Given the description of an element on the screen output the (x, y) to click on. 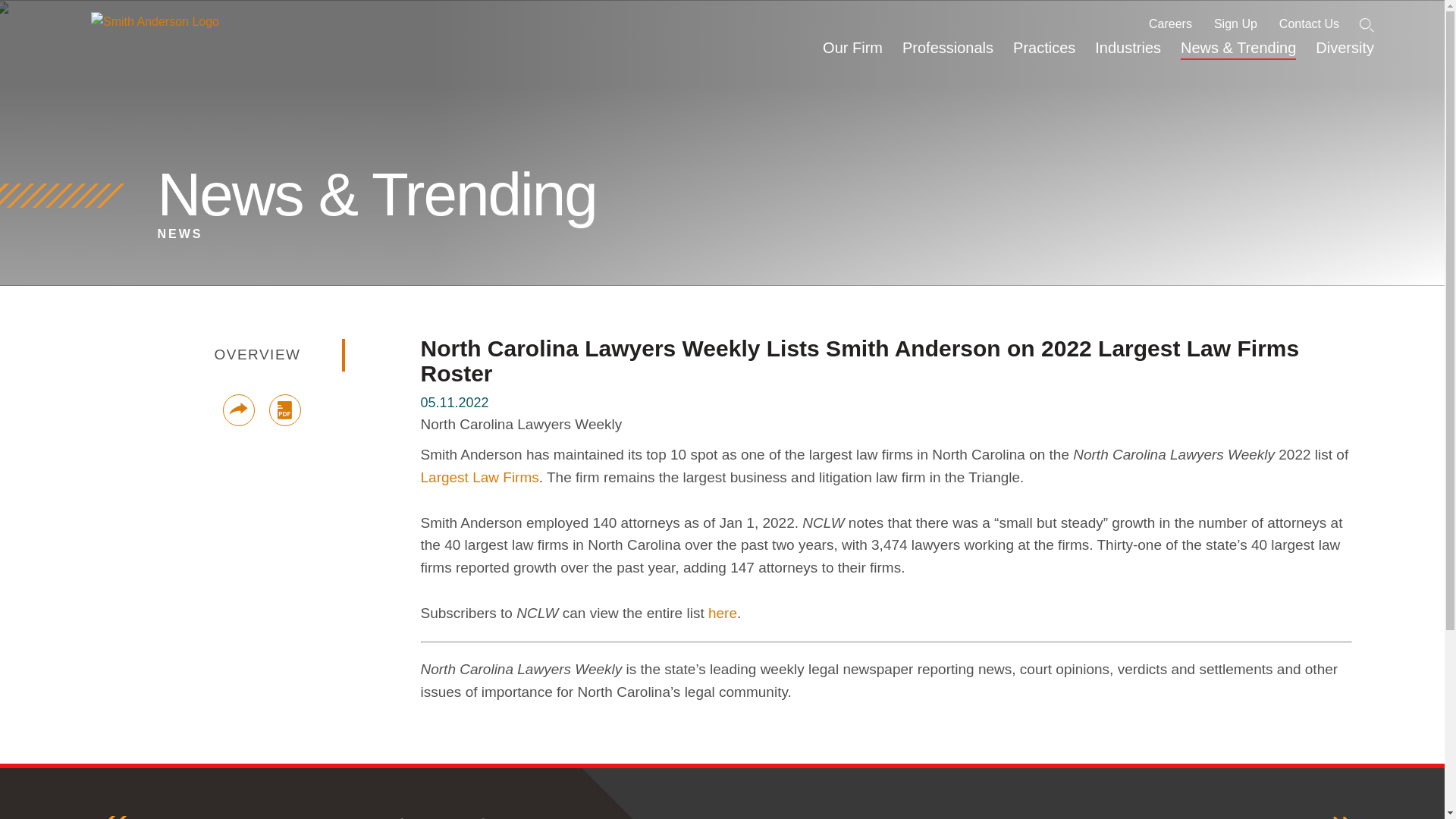
Main Content (674, 13)
Our Firm (852, 54)
Professionals (947, 54)
Print PDF (283, 409)
Menu (680, 13)
